Given the description of an element on the screen output the (x, y) to click on. 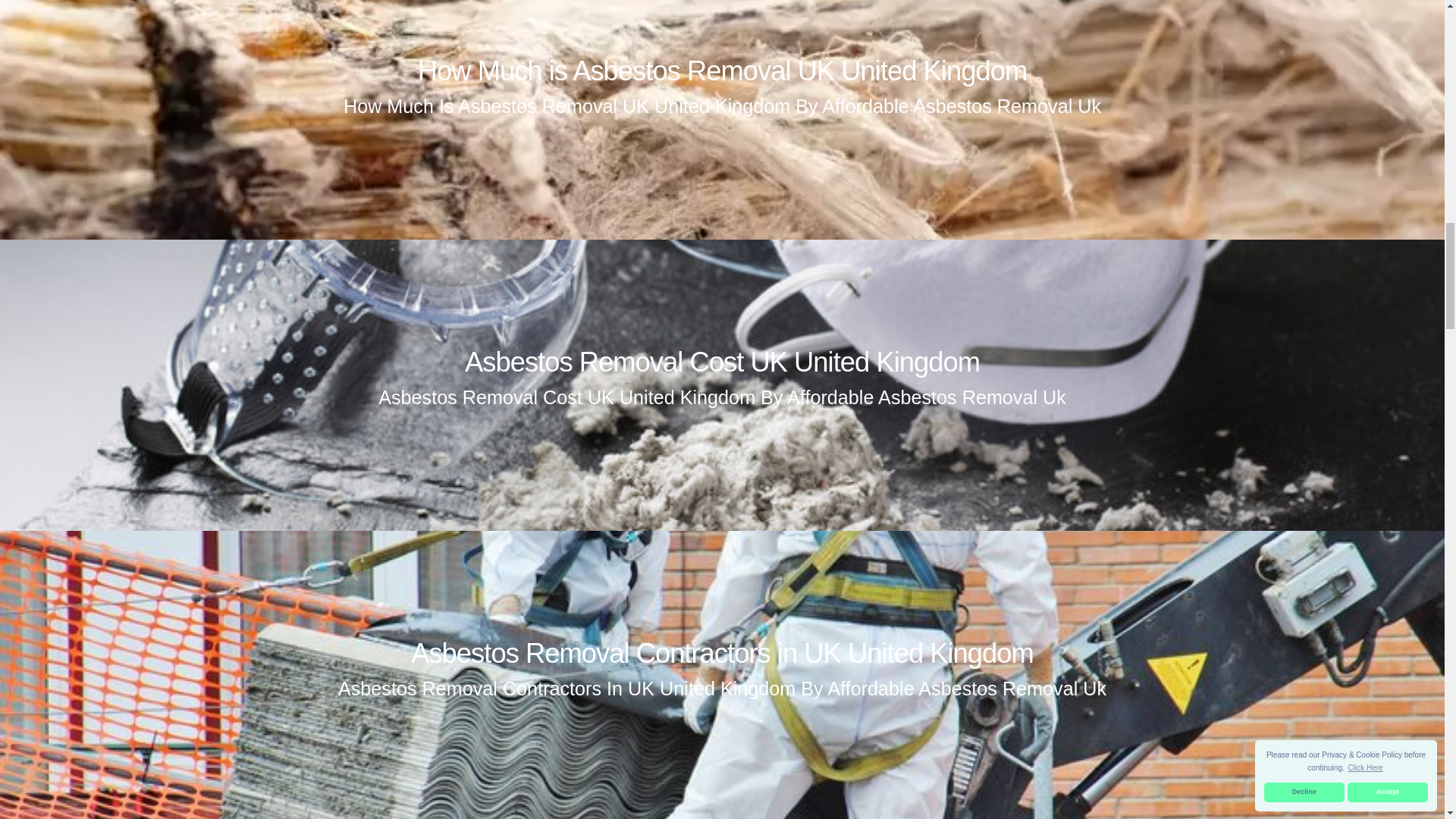
How Much is Asbestos Removal UK United Kingdom (721, 70)
Asbestos Removal Contractors in UK United Kingdom (721, 653)
Asbestos Removal Cost UK United Kingdom (721, 361)
